Given the description of an element on the screen output the (x, y) to click on. 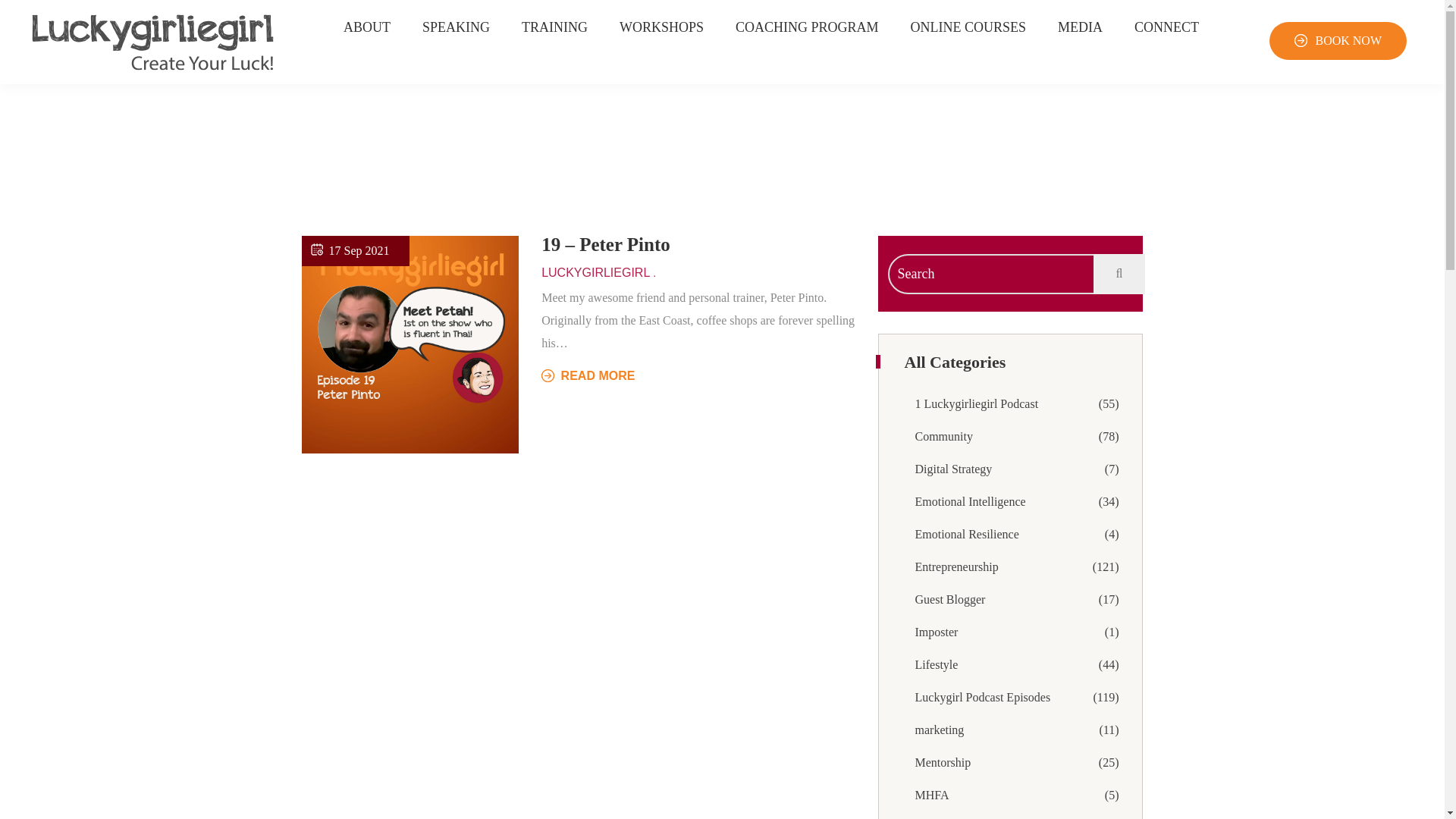
READ MORE (965, 501)
SPEAKING (933, 729)
COACHING PROGRAM (944, 599)
WORKSHOPS (587, 375)
MEDIA (948, 468)
TRAINING (455, 27)
